Given the description of an element on the screen output the (x, y) to click on. 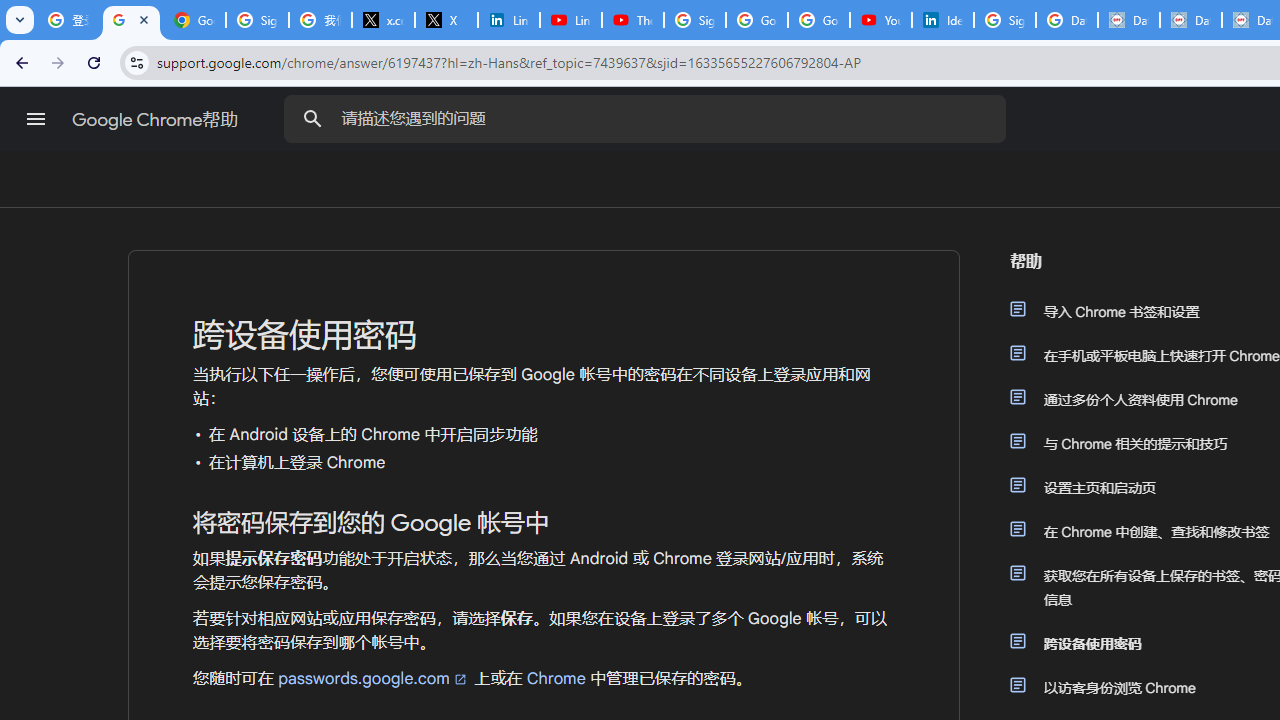
X (445, 20)
